Given the description of an element on the screen output the (x, y) to click on. 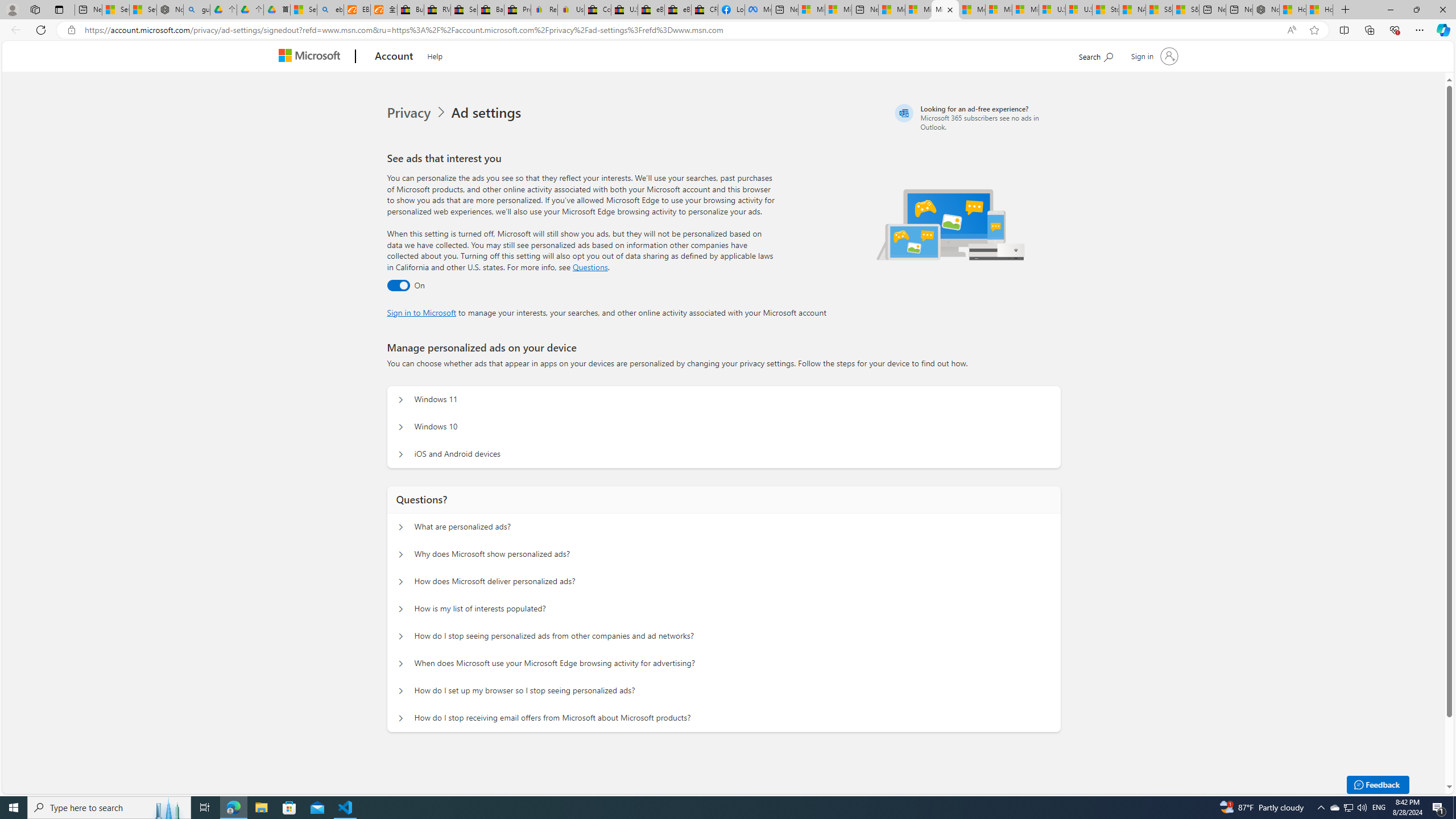
Ad settings toggle (398, 285)
